Given the description of an element on the screen output the (x, y) to click on. 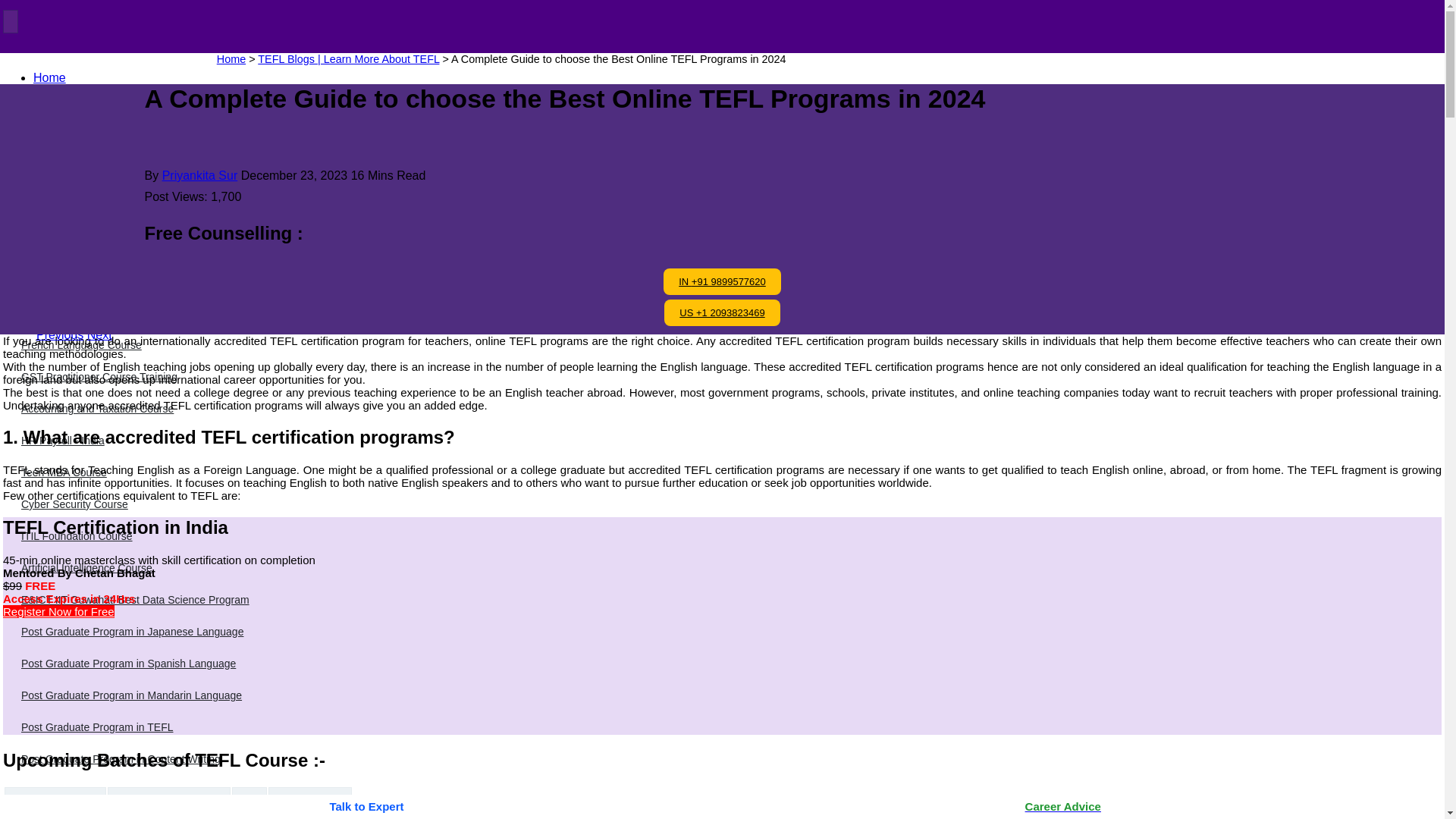
About Us (57, 124)
Henry Harvin Blog (60, 71)
Jobs (46, 220)
Contact Us (63, 268)
Next (99, 334)
Posts by Priyankita Sur (199, 174)
Priyankita Sur (199, 174)
Home (49, 77)
View All (110, 277)
Home (231, 59)
